Given the description of an element on the screen output the (x, y) to click on. 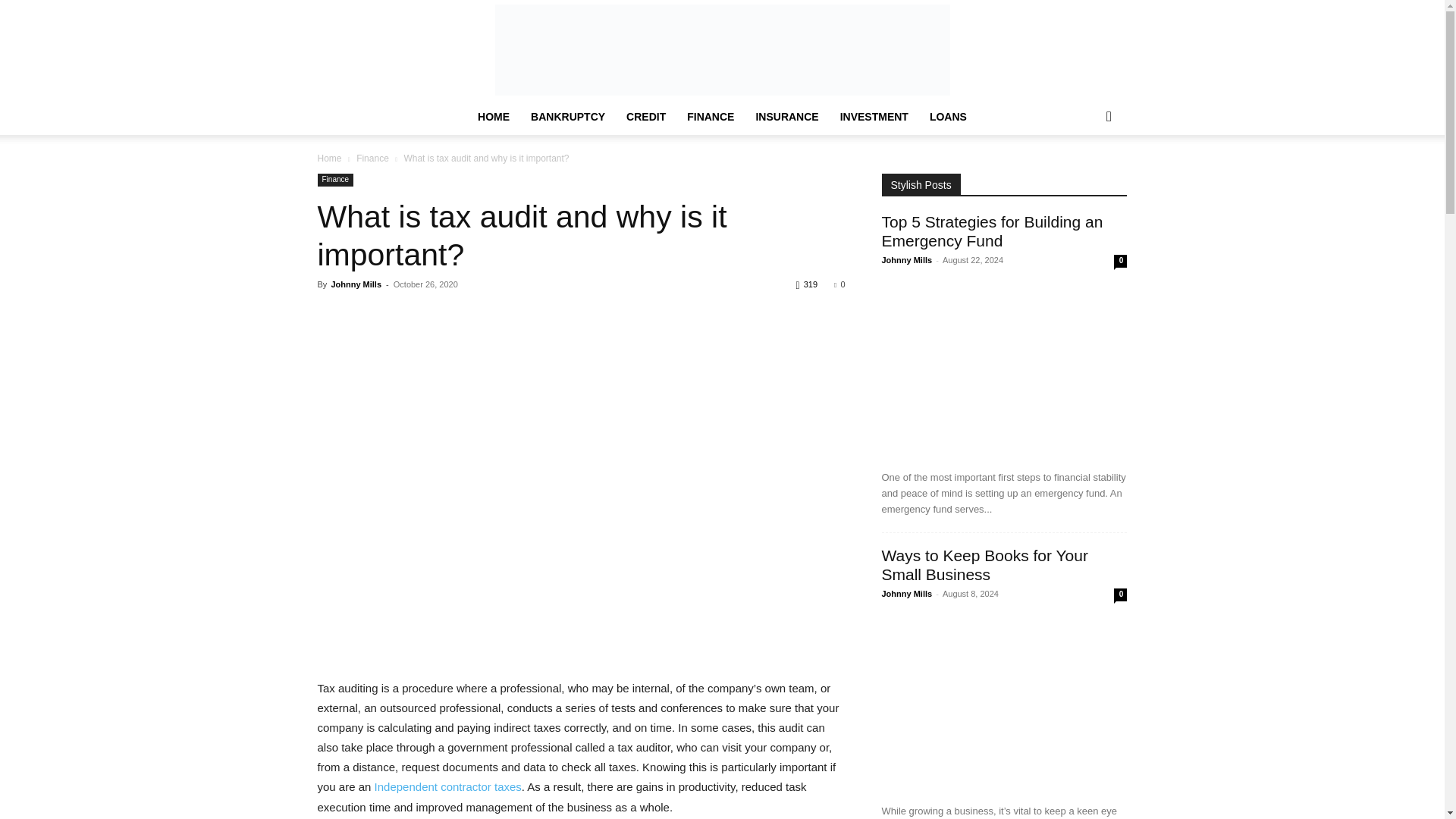
0 (839, 284)
Johnny Mills (355, 284)
CREDIT (646, 116)
Search (1085, 177)
Finance (335, 179)
LOANS (947, 116)
FINANCE (710, 116)
Finance (372, 158)
Home (328, 158)
Independent contractor taxes (447, 786)
